Given the description of an element on the screen output the (x, y) to click on. 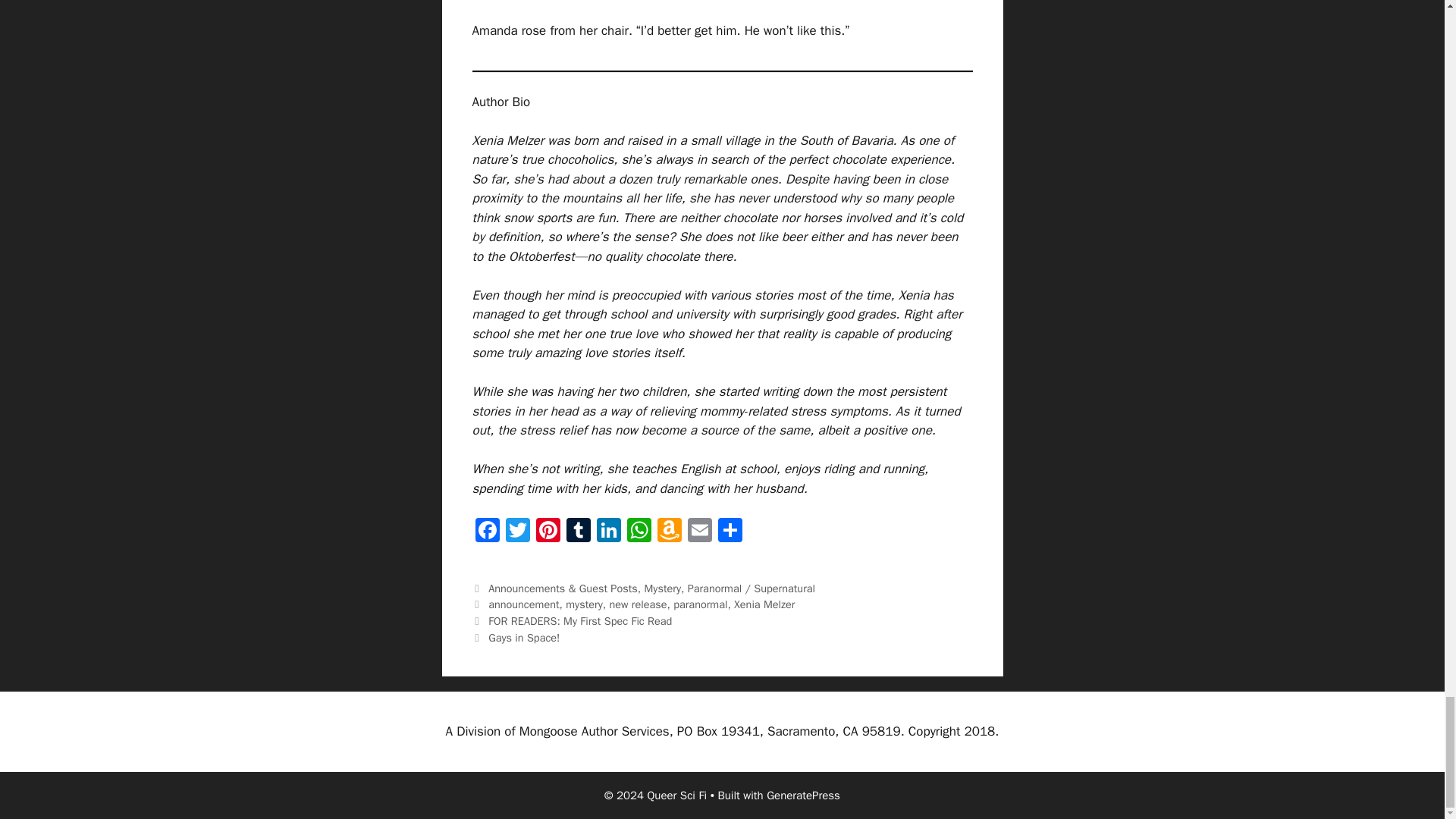
Email (699, 532)
Amazon Wish List (668, 532)
WhatsApp (638, 532)
Tumblr (577, 532)
LinkedIn (607, 532)
Pinterest (547, 532)
Twitter (517, 532)
Facebook (486, 532)
